Given the description of an element on the screen output the (x, y) to click on. 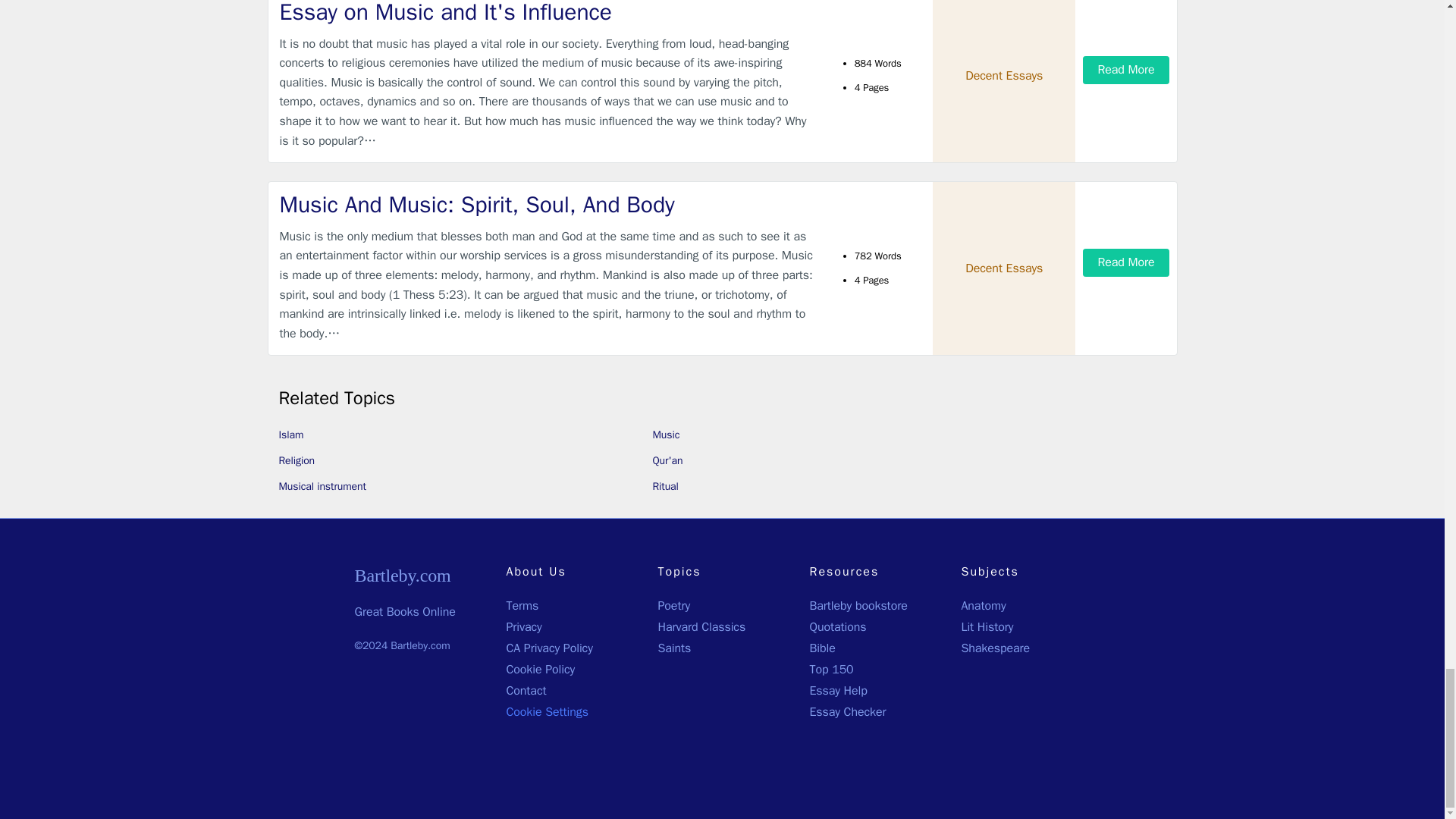
Musical instrument (322, 486)
Qur'an (667, 460)
Ritual (665, 486)
Music (665, 434)
Islam (291, 434)
Religion (297, 460)
